Given the description of an element on the screen output the (x, y) to click on. 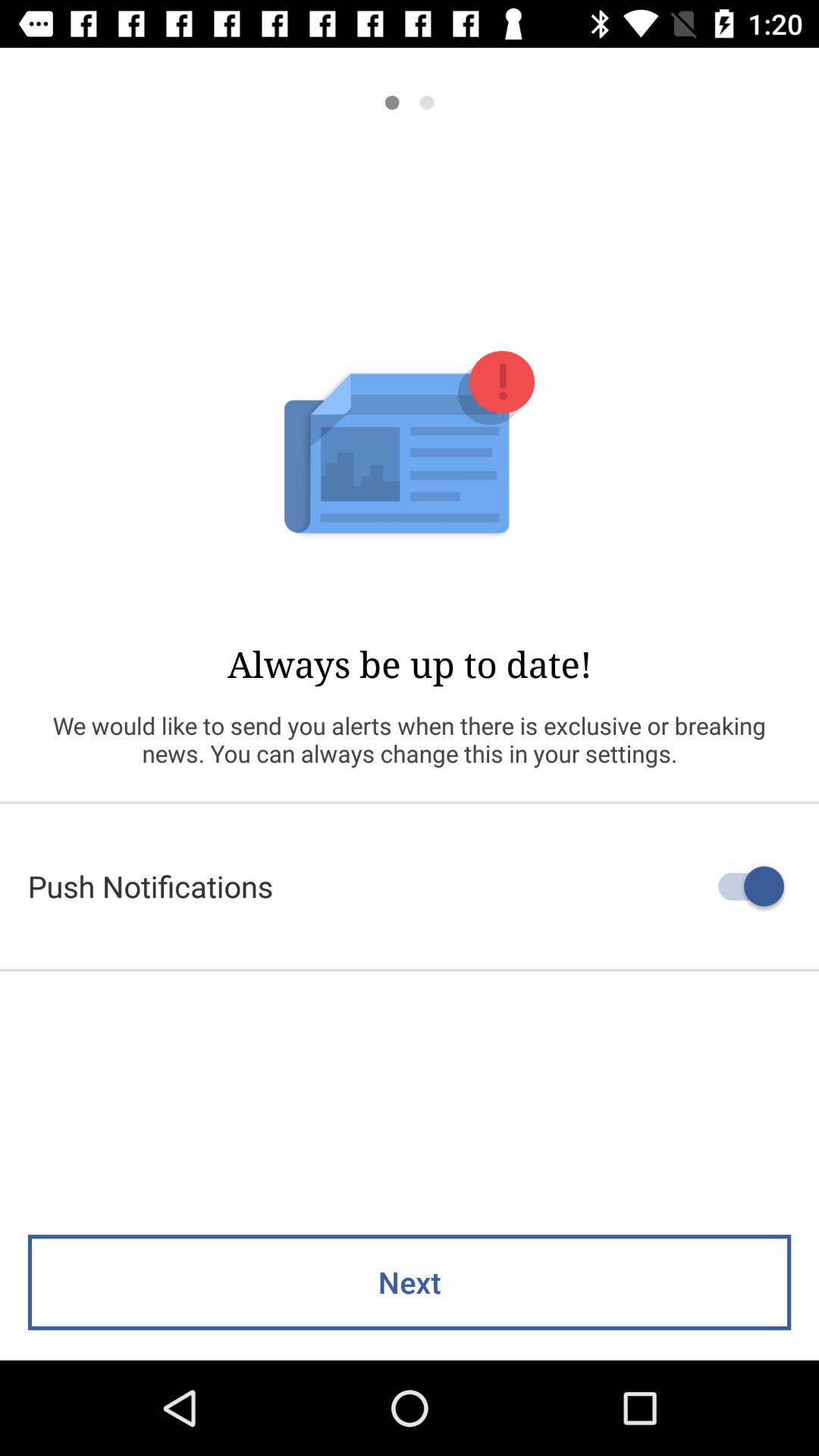
tap the push notifications (409, 886)
